Given the description of an element on the screen output the (x, y) to click on. 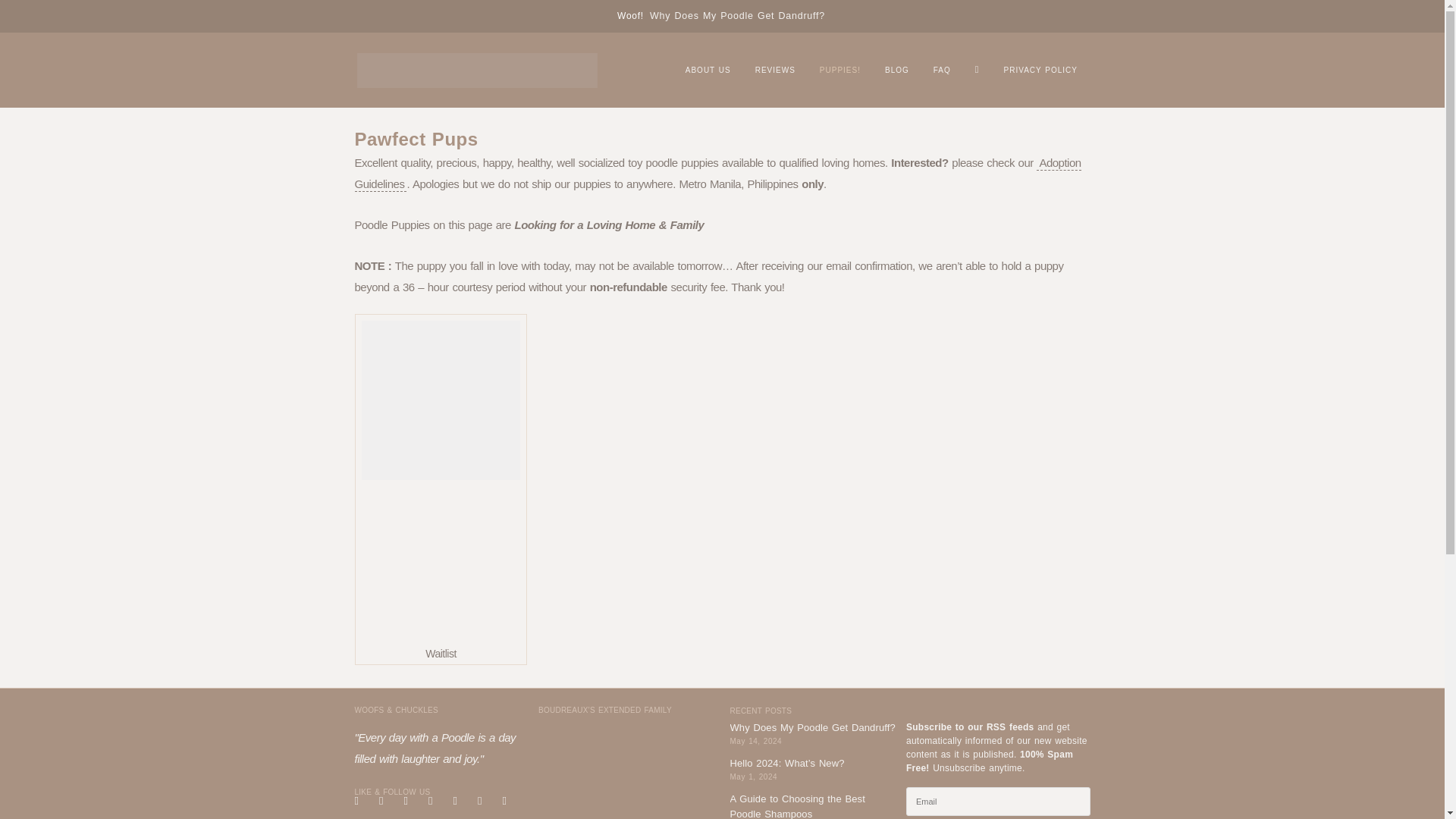
FAQ (941, 70)
PUPPIES! (840, 70)
PRIVACY POLICY (1040, 70)
Why Does My Poodle Get Dandruff? (737, 14)
REVIEWS (775, 70)
BLOG (896, 70)
ABOUT US (707, 70)
